Given the description of an element on the screen output the (x, y) to click on. 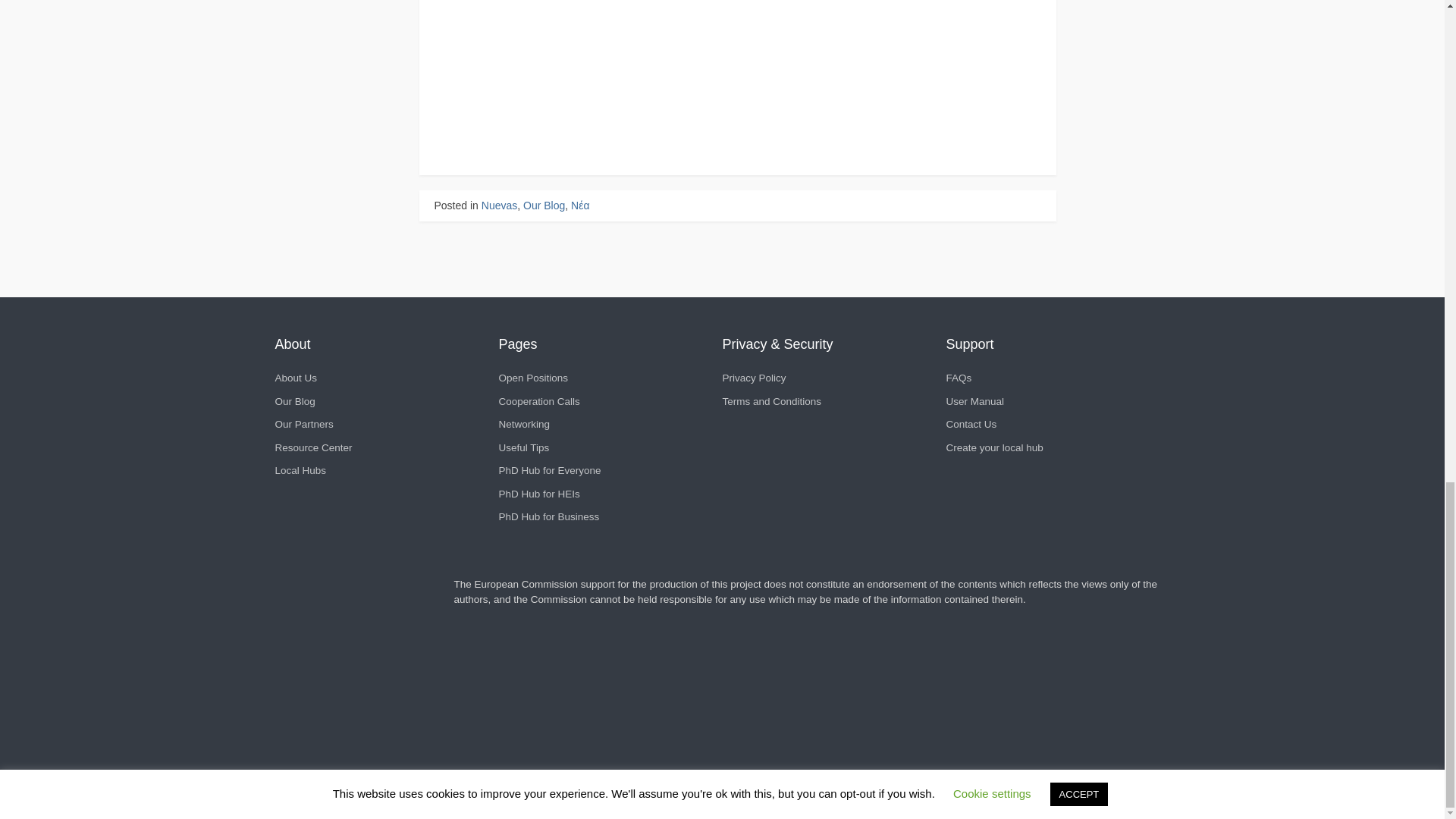
Open Positions (534, 378)
Our Blog (543, 205)
Local Hubs (300, 470)
Our Partners (304, 423)
Nuevas (498, 205)
Useful Tips (524, 447)
Cooperation Calls (539, 401)
Networking (524, 423)
Resource Center (313, 447)
About Us (296, 378)
